Given the description of an element on the screen output the (x, y) to click on. 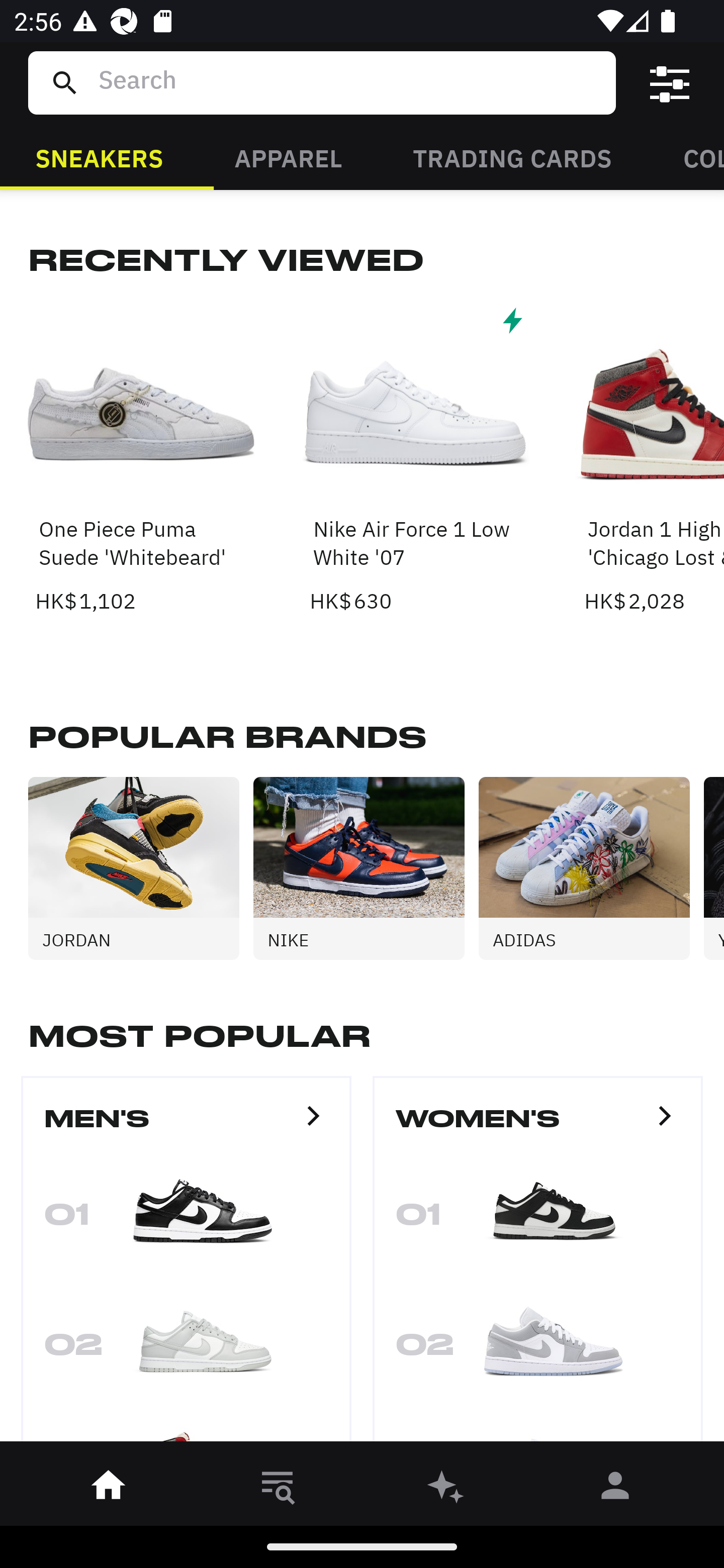
Search (349, 82)
 (669, 82)
SNEAKERS (99, 156)
APPAREL (287, 156)
TRADING CARDS (512, 156)
One Piece Puma Suede 'Whitebeard' HK$ 1,102 (140, 458)
 Nike Air Force 1 Low White '07 HK$ 630 (414, 458)
Jordan 1 High 'Chicago Lost & Found' HK$ 2,028 (654, 458)
JORDAN (140, 868)
NIKE (365, 868)
ADIDAS (590, 868)
MEN'S  (186, 1127)
WOMEN'S  (538, 1127)
01 (186, 1220)
01 (538, 1220)
02 (186, 1350)
02 (538, 1350)
󰋜 (108, 1488)
󱎸 (277, 1488)
󰫢 (446, 1488)
󰀄 (615, 1488)
